Given the description of an element on the screen output the (x, y) to click on. 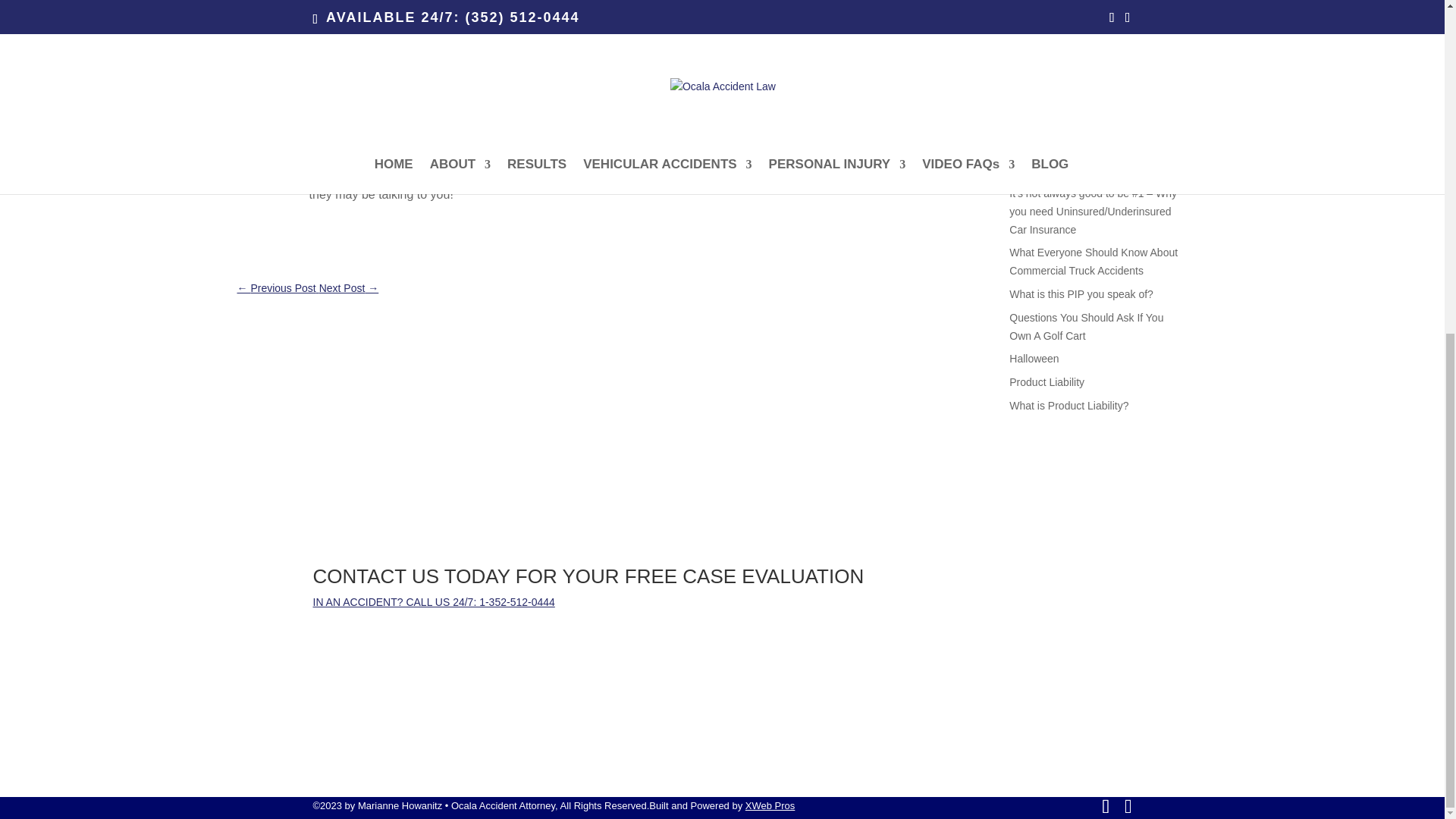
Well, That Stinks!! (1051, 2)
Premium Web Designs (769, 805)
Do You Have A Fear of Driving? (1083, 22)
